Given the description of an element on the screen output the (x, y) to click on. 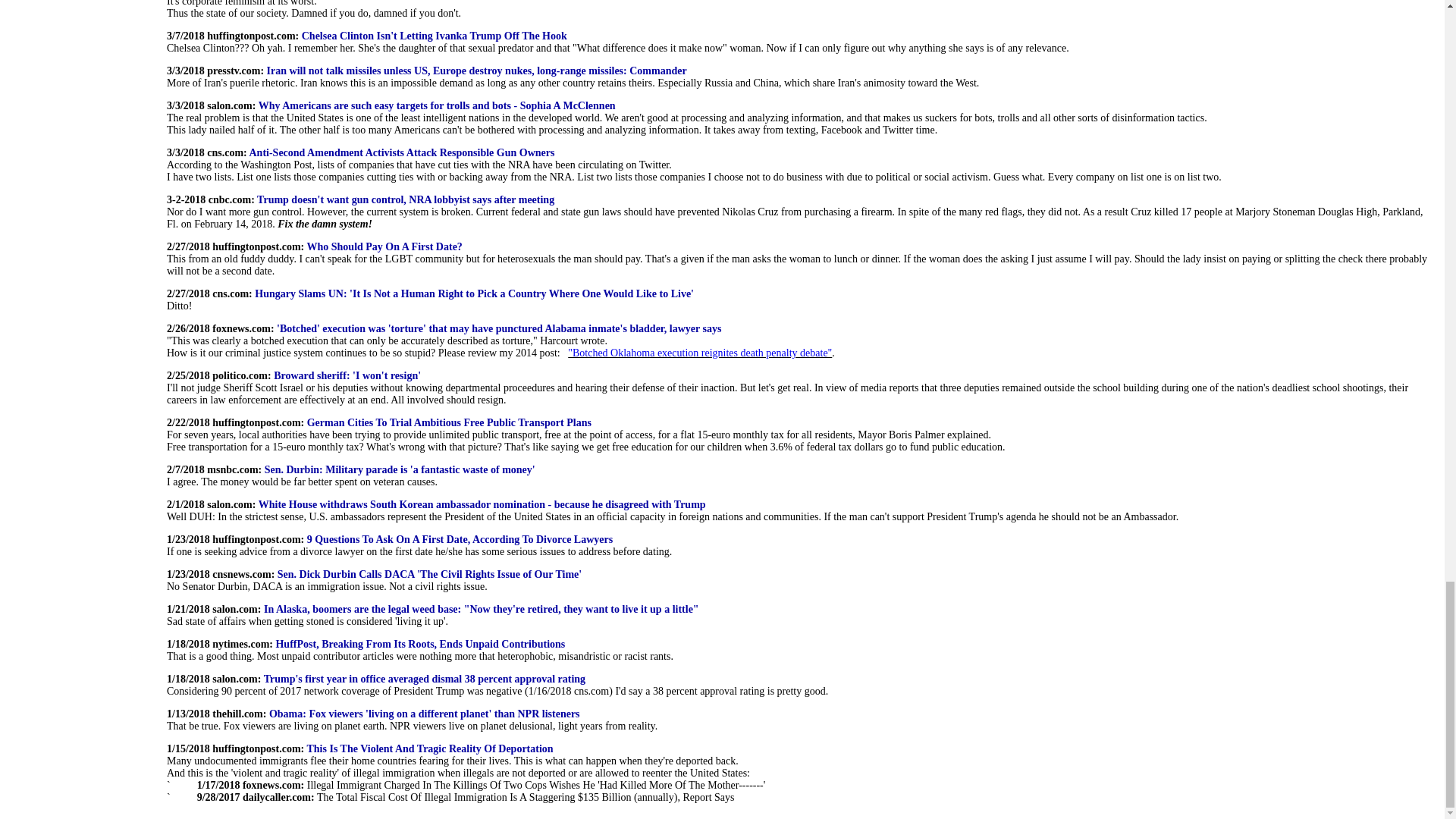
"Botched Oklahoma execution reignites death penalty debate" (699, 352)
